Given the description of an element on the screen output the (x, y) to click on. 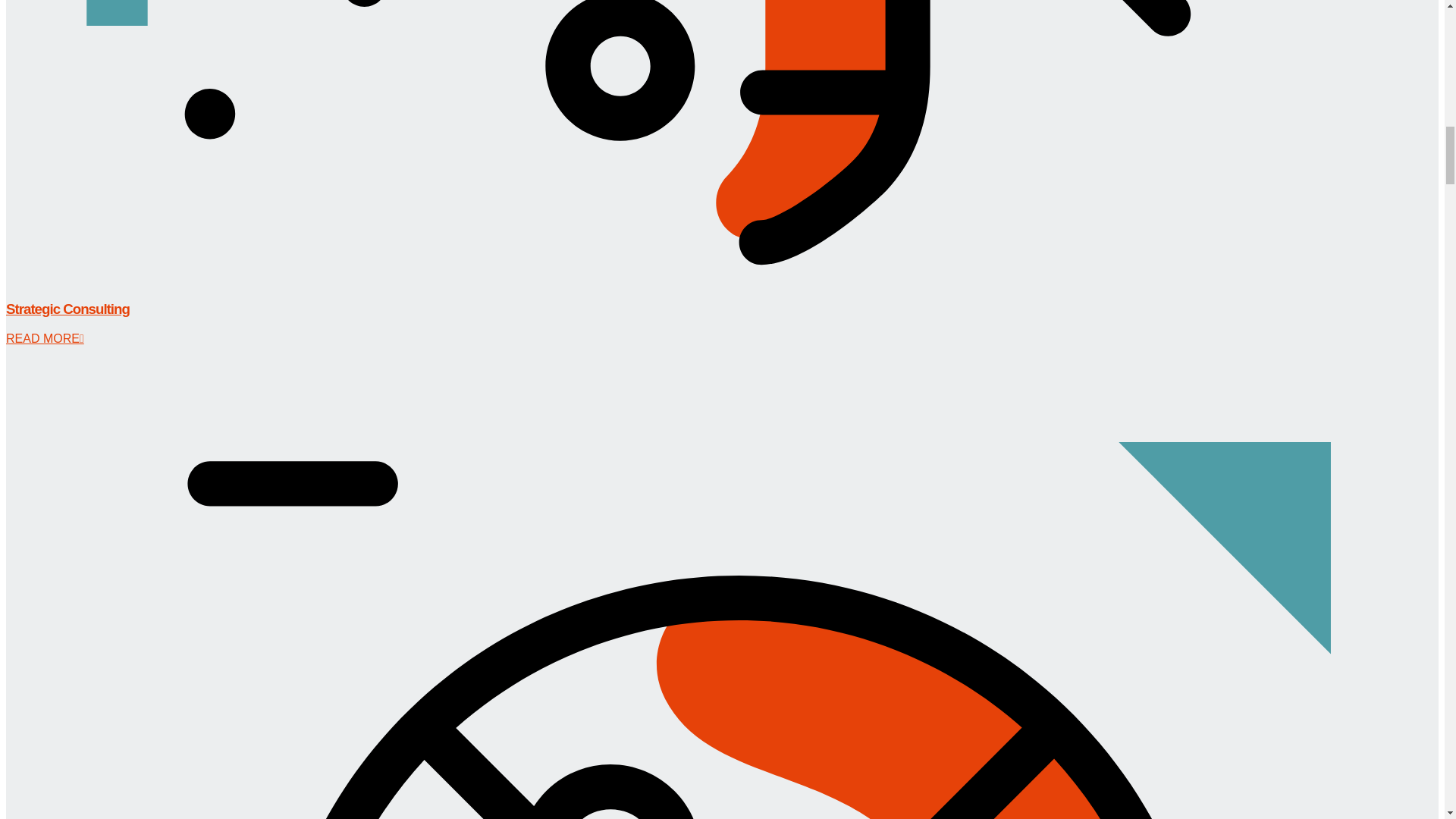
Strategic Consulting (67, 308)
Strategic Consulting (67, 308)
READ MORE (44, 338)
READ MORE (44, 338)
